Given the description of an element on the screen output the (x, y) to click on. 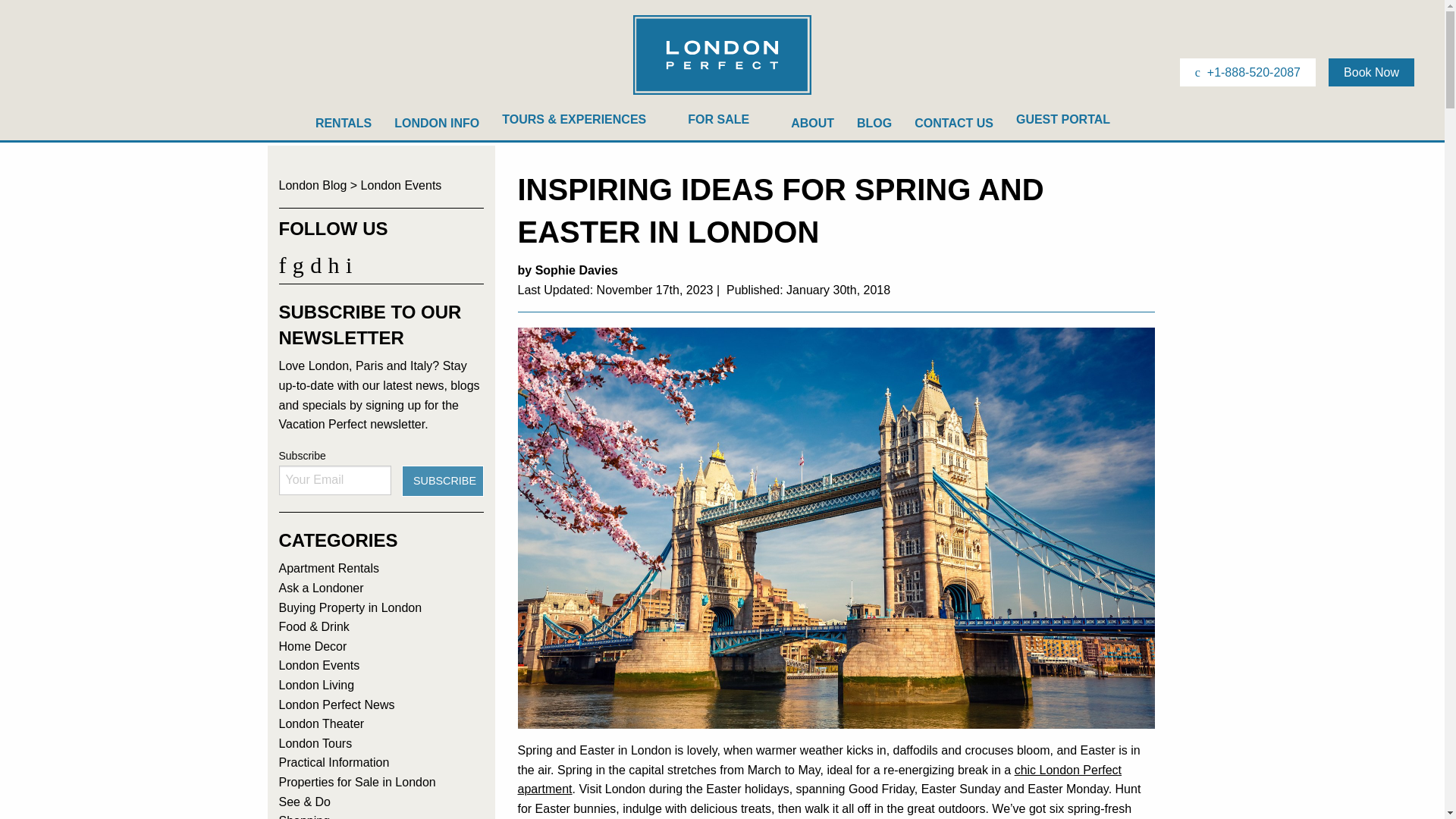
FOR SALE (727, 123)
London Perfect - London Vacation Rentals (721, 92)
London Guide (436, 122)
Book Now (1370, 72)
RENTALS (343, 122)
LONDON INFO (436, 122)
Posts by Sophie Davies (576, 269)
ABOUT (811, 122)
Subscribe (442, 481)
